Given the description of an element on the screen output the (x, y) to click on. 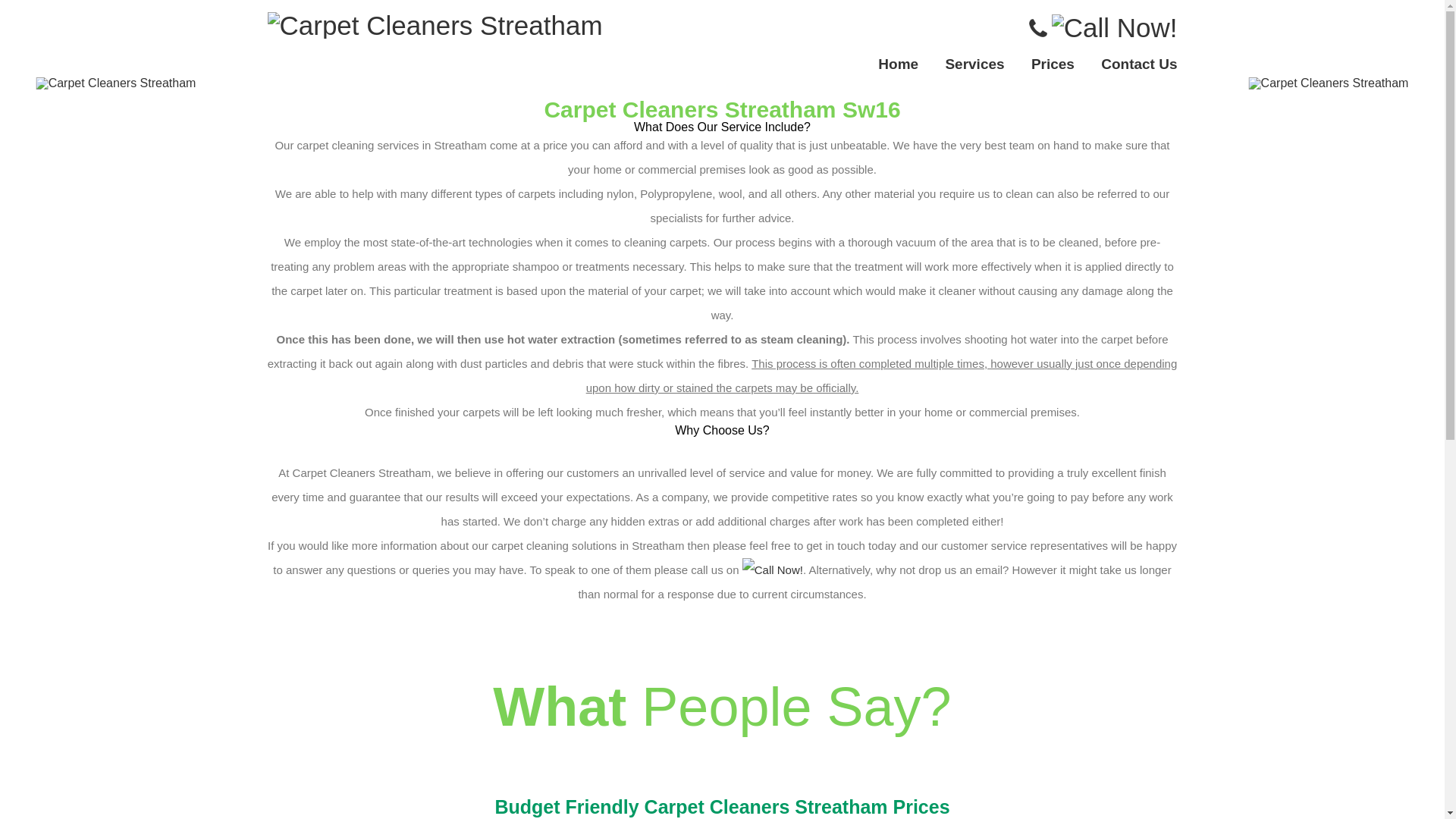
Home (897, 64)
Call Now! (772, 569)
Contact Us (1138, 64)
Services (974, 64)
Prices (1052, 64)
